Given the description of an element on the screen output the (x, y) to click on. 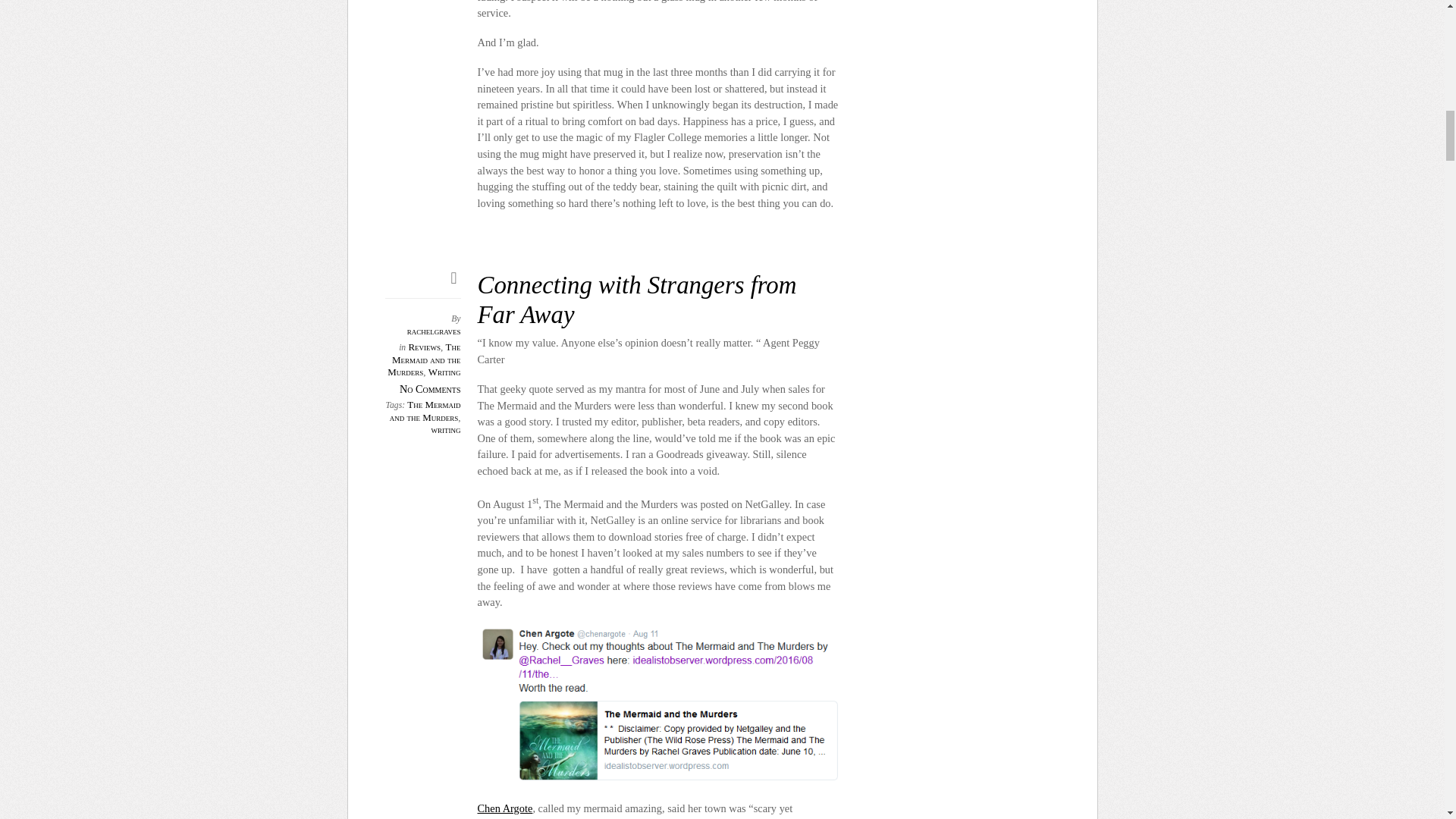
Connecting with Strangers from Far Away (636, 299)
Writing (444, 371)
Chen Argote (504, 808)
rachelgraves (434, 330)
Reviews (424, 346)
writing (445, 429)
The Mermaid and the Murders (425, 410)
The Mermaid and the Murders (423, 359)
No Comments (429, 388)
